Given the description of an element on the screen output the (x, y) to click on. 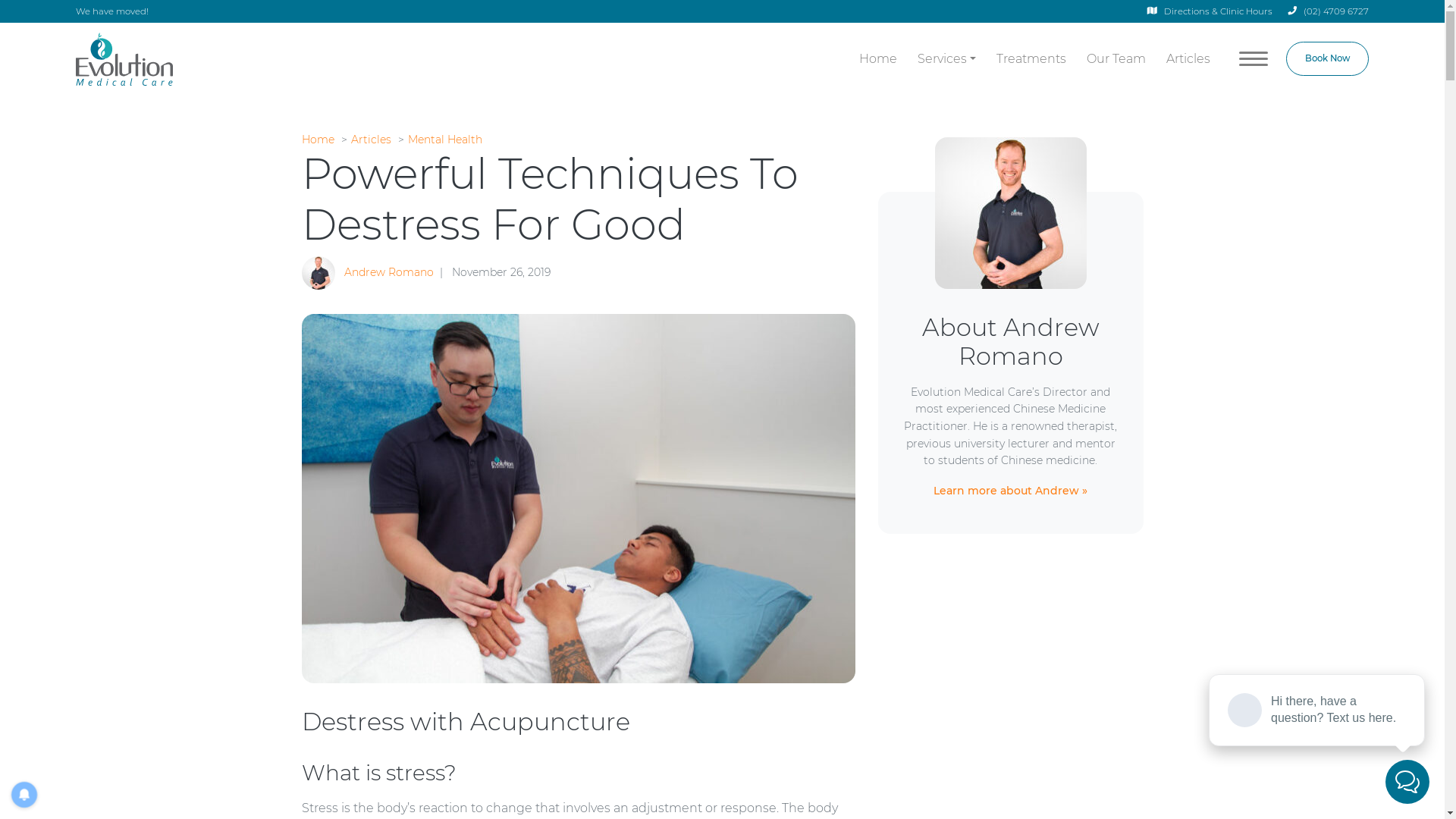
Articles Element type: text (370, 139)
Home Element type: text (317, 139)
Andrew Romano Element type: text (388, 272)
Directions & Clinic Hours Element type: text (1209, 11)
Our Team Element type: text (1116, 59)
Services Element type: text (945, 59)
Home Element type: text (877, 59)
Mental Health Element type: text (444, 139)
Book Now Element type: text (1327, 58)
 Webpushr Element type: text (30, 765)
(02) 4709 6727 Element type: text (1327, 11)
Treatments Element type: text (1030, 59)
We have moved! Element type: text (111, 11)
Articles Element type: text (1188, 59)
